Given the description of an element on the screen output the (x, y) to click on. 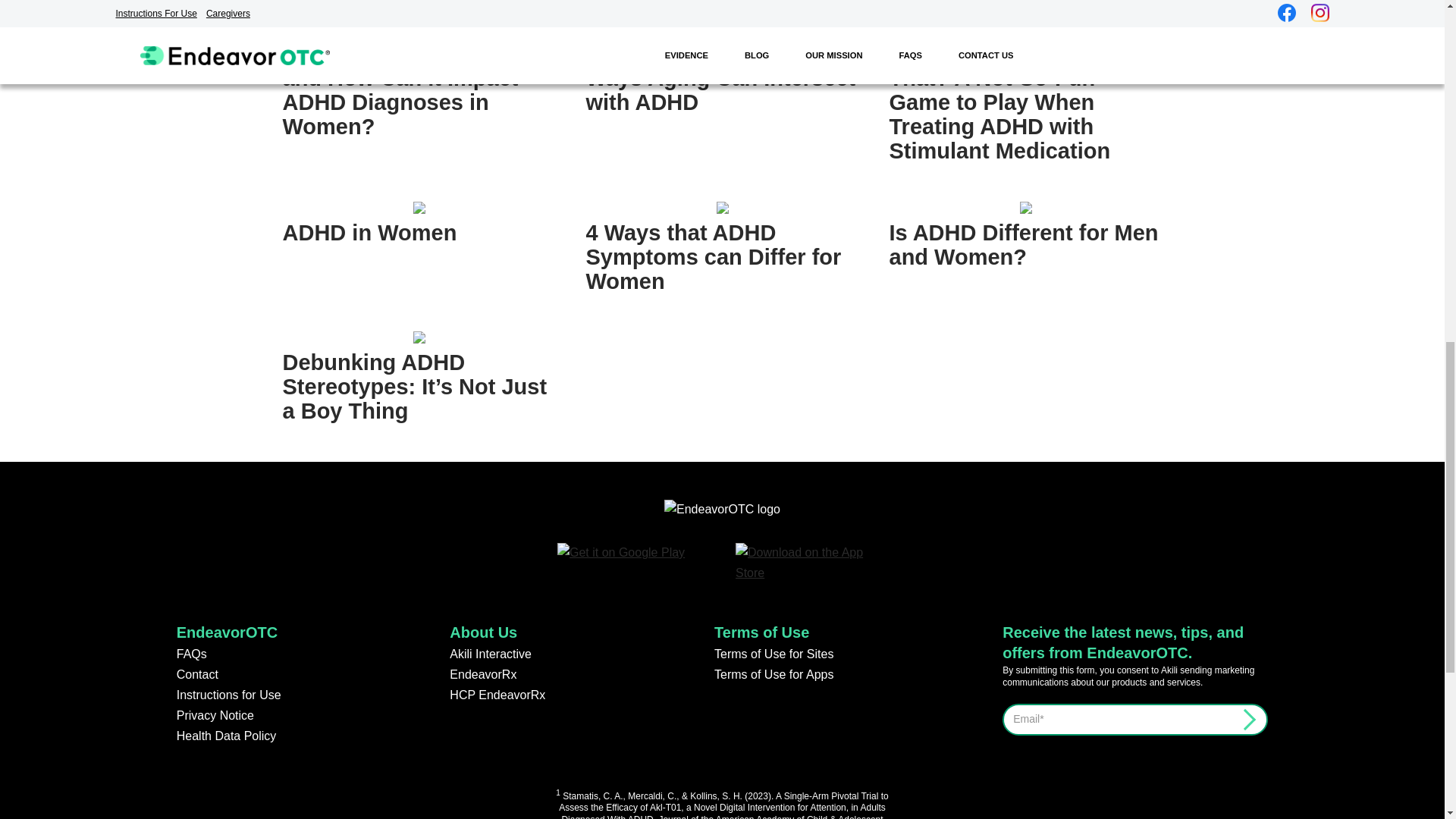
FAQs (191, 653)
4 Ways that ADHD Symptoms can Differ for Women (713, 256)
Submit (1241, 716)
ADHD in Women (369, 232)
Is ADHD Different for Men and Women? (1022, 244)
